Given the description of an element on the screen output the (x, y) to click on. 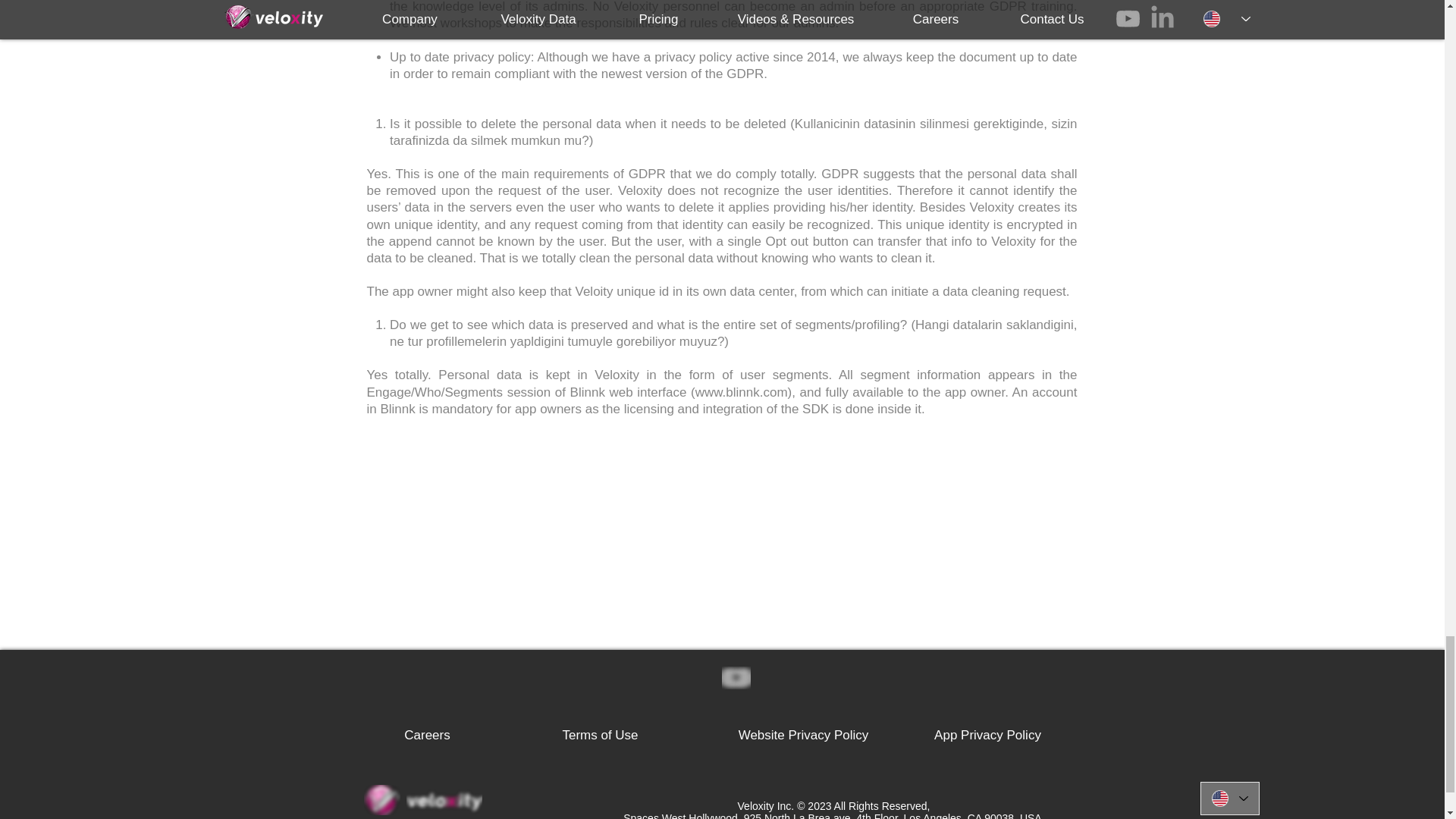
www.blinnk.com (741, 391)
Website Privacy Policy (803, 735)
App Privacy Policy (988, 735)
Terms of Use (599, 735)
Careers (426, 735)
